Given the description of an element on the screen output the (x, y) to click on. 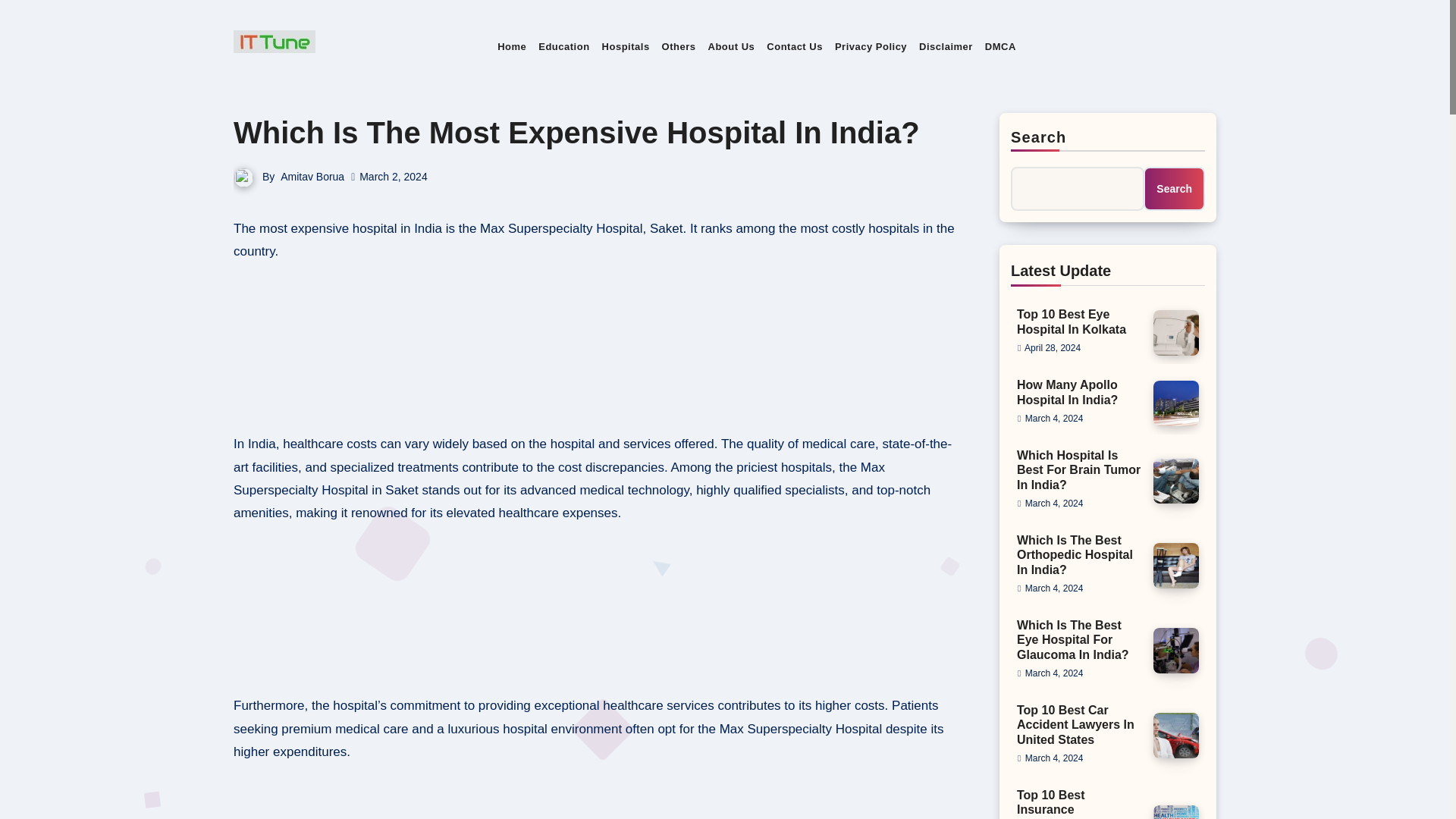
About Us (731, 47)
Permalink to: Which Is The Most Expensive Hospital In India? (576, 132)
Disclaimer (945, 47)
Contact Us (794, 47)
Disclaimer (945, 47)
Which Is The Most Expensive Hospital In India? (576, 132)
Amitav Borua (312, 176)
March 2, 2024 (393, 176)
About Us (731, 47)
Privacy Policy (870, 47)
